Given the description of an element on the screen output the (x, y) to click on. 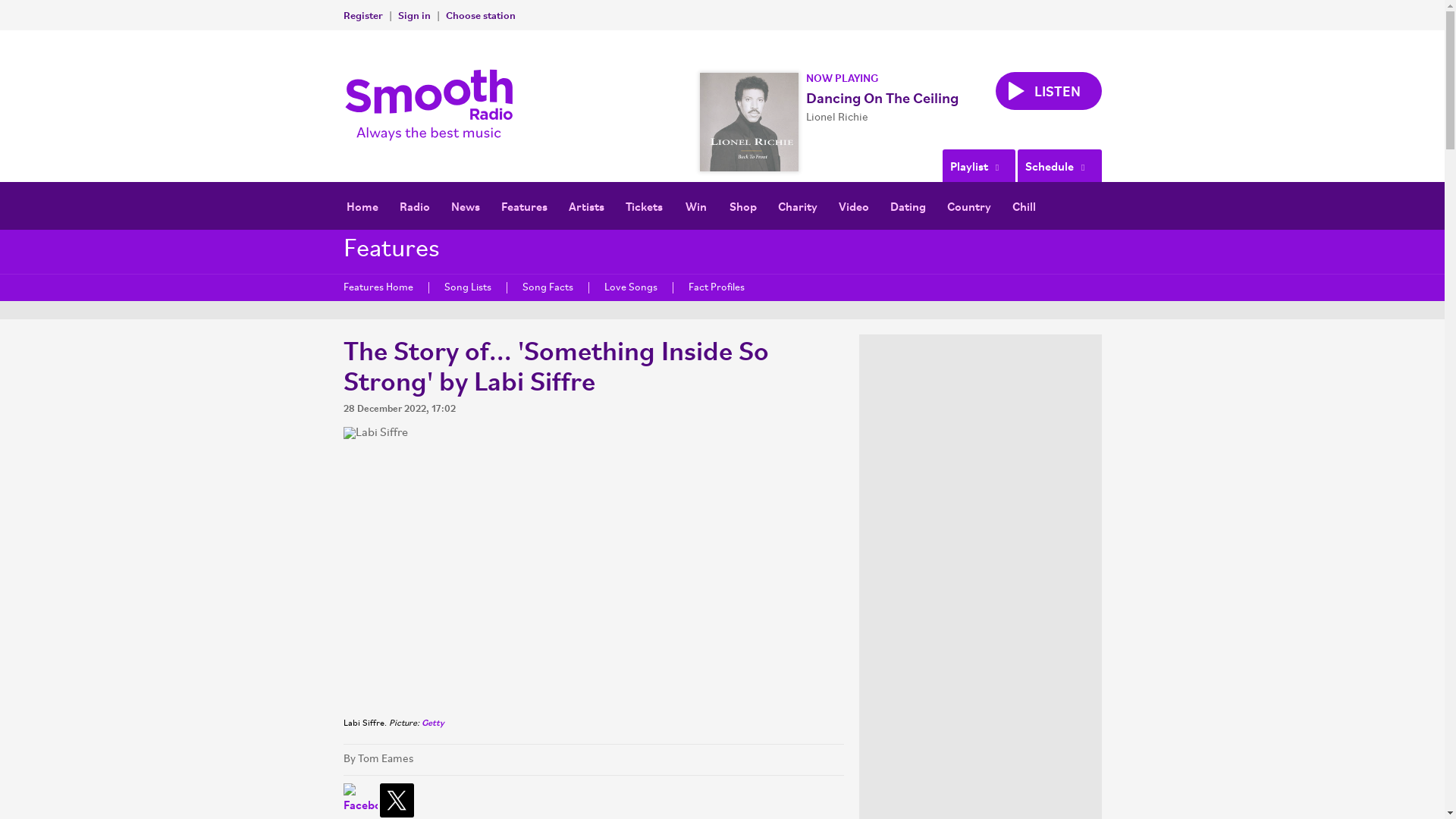
Register (361, 14)
Schedule (1058, 165)
Artists (585, 205)
Love Songs (630, 287)
Chill (1023, 205)
Country (968, 205)
Sign in (413, 14)
Choose station (480, 14)
Charity (797, 205)
Features (523, 205)
Fact Profiles (714, 287)
Radio (413, 205)
Playlist (978, 165)
Shop (743, 205)
Video (853, 205)
